Given the description of an element on the screen output the (x, y) to click on. 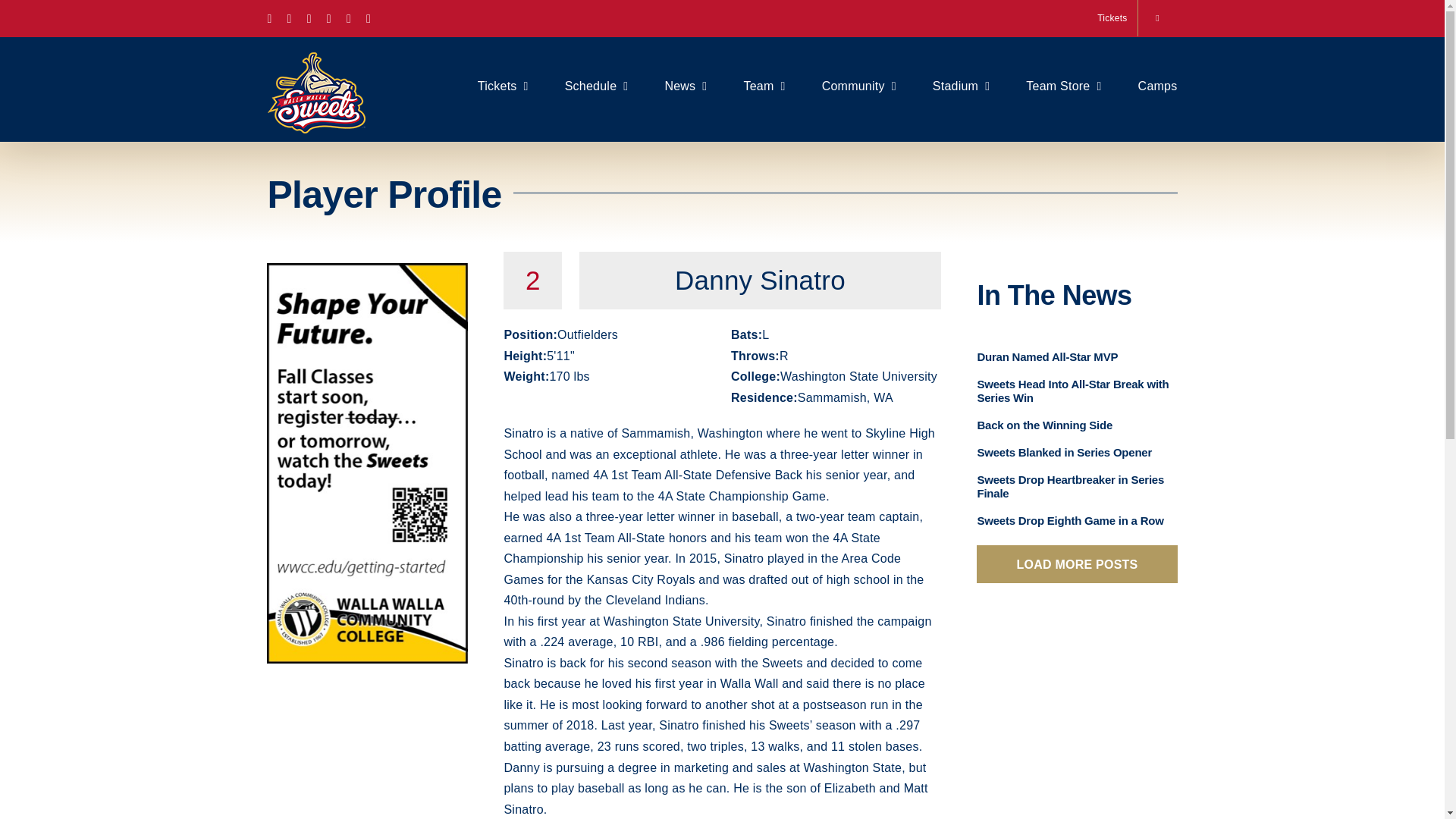
Instagram (309, 18)
Team (763, 84)
Tiktok (328, 18)
Community (859, 84)
Facebook (268, 18)
News (684, 84)
Schedule (596, 84)
Tickets (1112, 18)
LinkedIn (368, 18)
Twitter (289, 18)
Tickets (502, 84)
YouTube (348, 18)
